Given the description of an element on the screen output the (x, y) to click on. 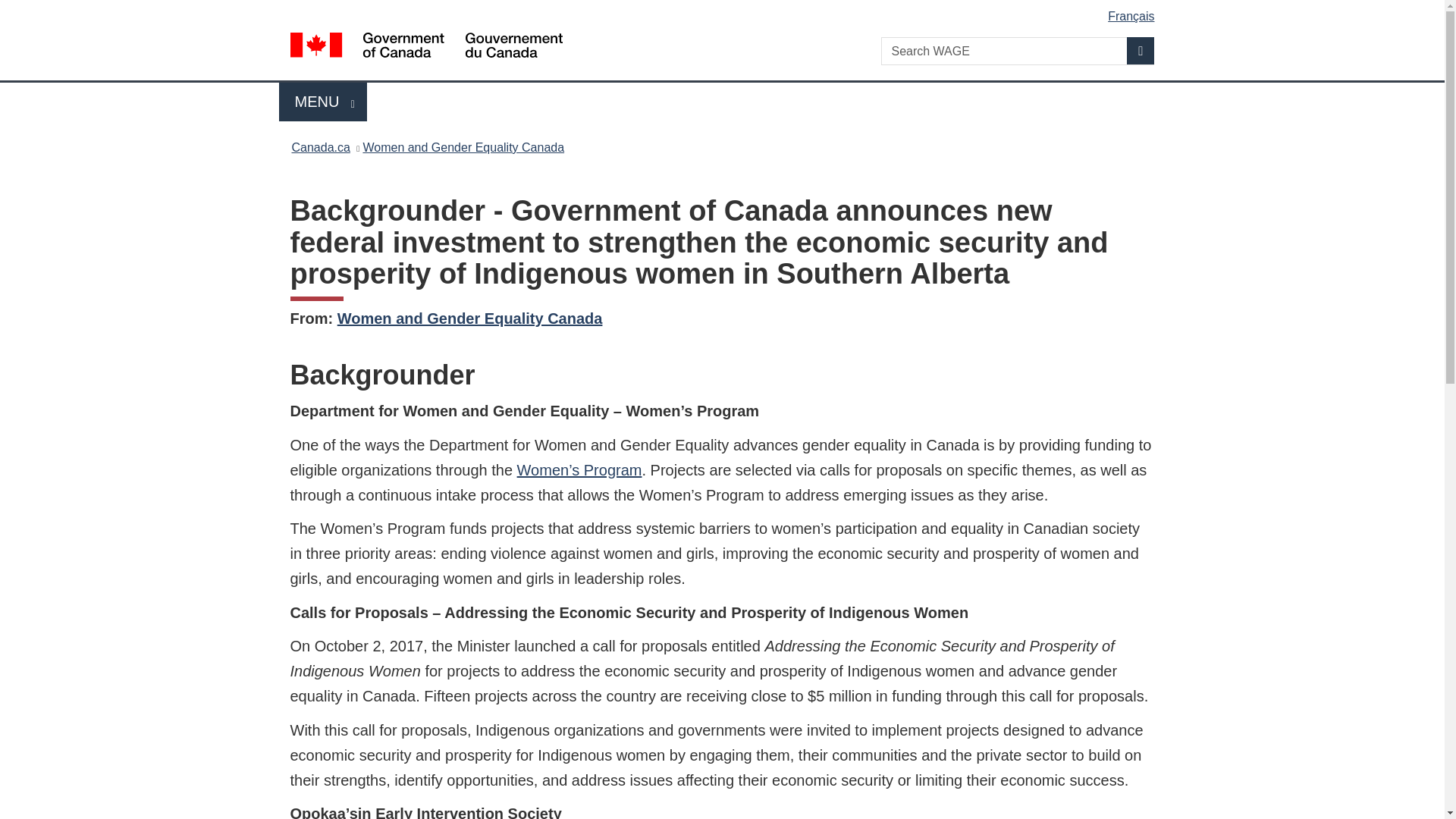
Women and Gender Equality Canada (469, 318)
Women and Gender Equality Canada (463, 147)
Canada.ca (320, 147)
Skip to main content (725, 11)
Search (1140, 50)
